Given the description of an element on the screen output the (x, y) to click on. 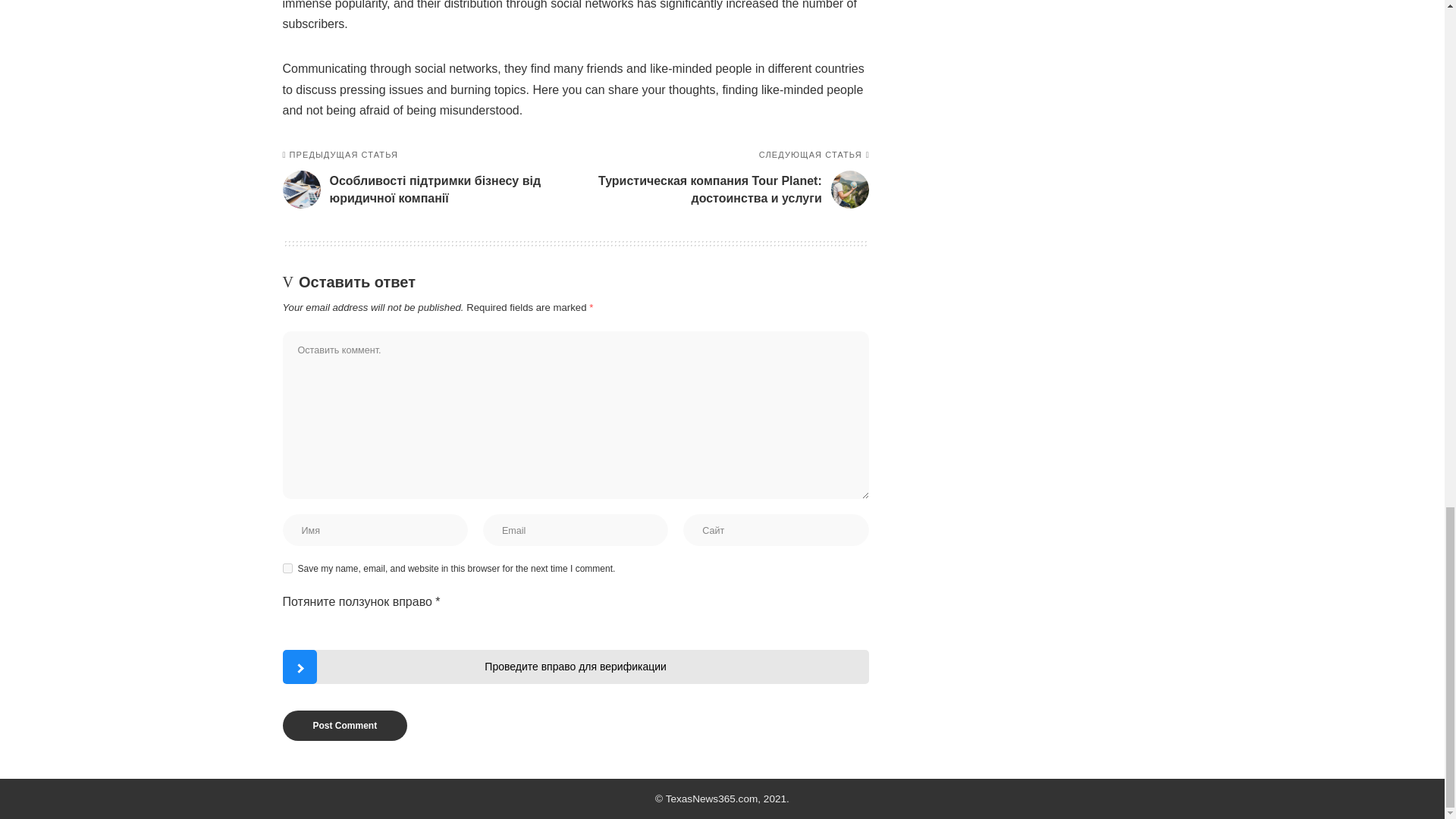
Post Comment (344, 725)
yes (287, 568)
